Given the description of an element on the screen output the (x, y) to click on. 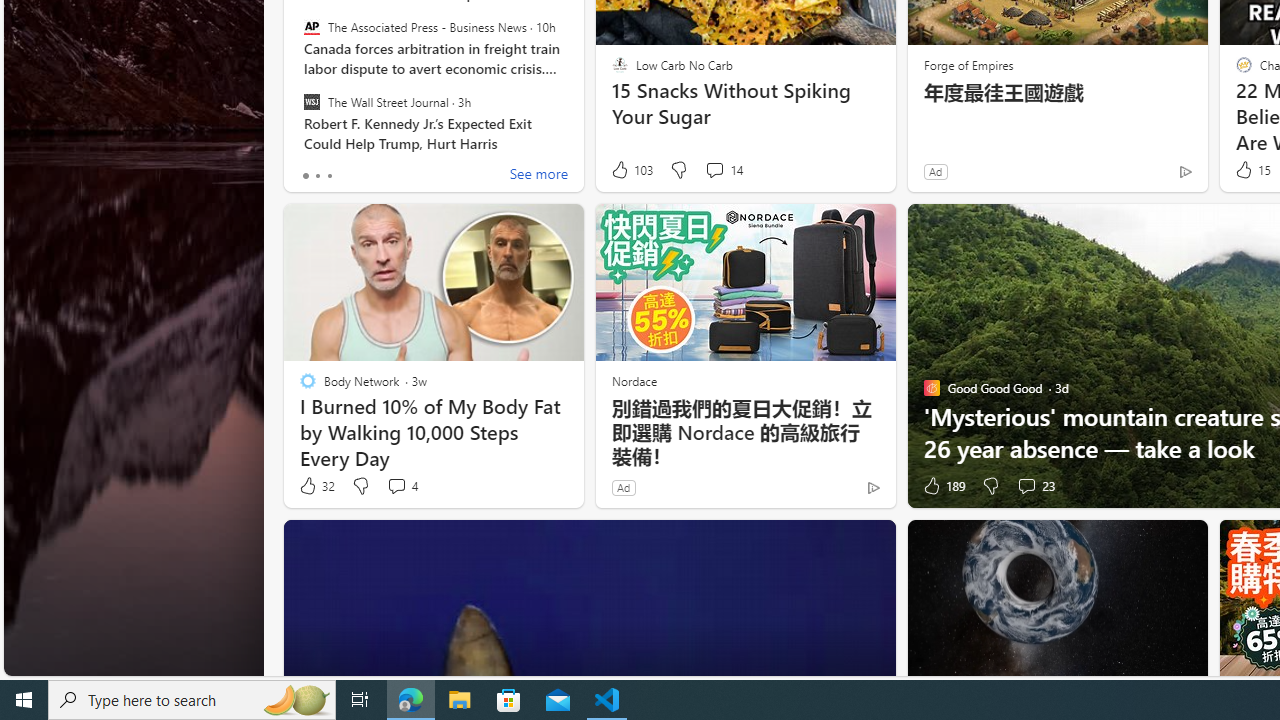
The Wall Street Journal (311, 101)
189 Like (942, 485)
Task View (359, 699)
32 Like (316, 485)
File Explorer (460, 699)
Microsoft Edge - 1 running window (411, 699)
View comments 23 Comment (1035, 485)
15 Like (1251, 170)
tab-0 (305, 175)
tab-2 (328, 175)
View comments 14 Comment (723, 170)
